Given the description of an element on the screen output the (x, y) to click on. 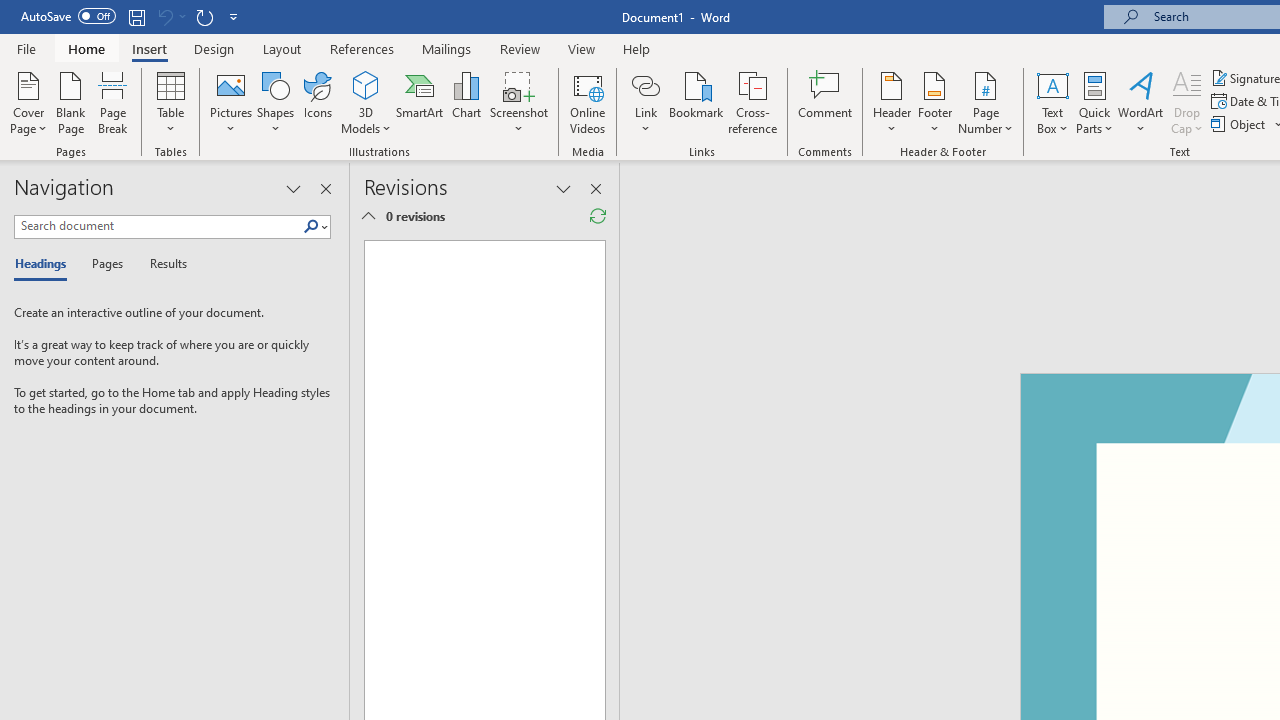
Drop Cap (1187, 102)
Can't Undo (164, 15)
3D Models (366, 102)
Quick Parts (1094, 102)
Page Number (986, 102)
